Given the description of an element on the screen output the (x, y) to click on. 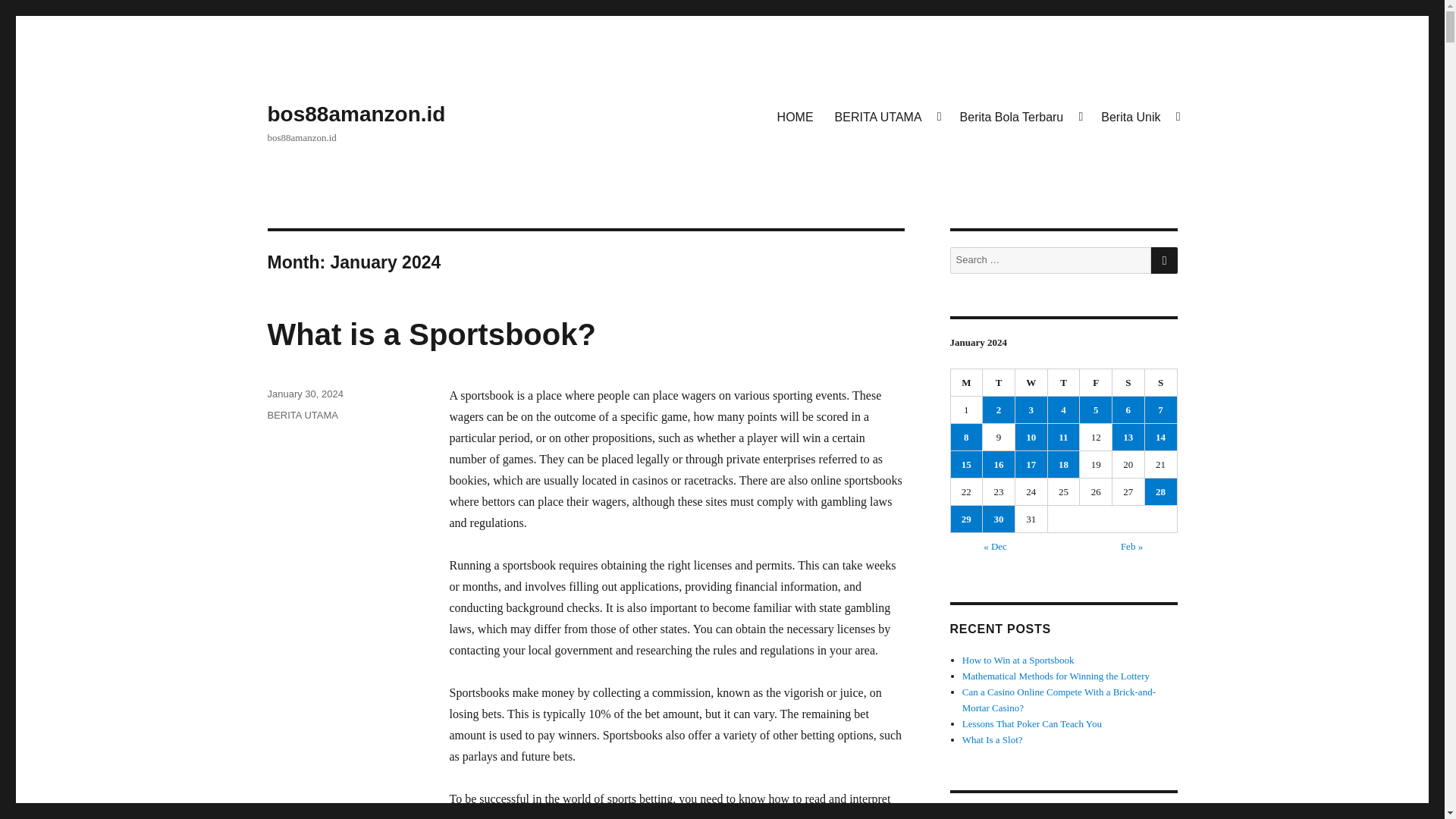
Thursday (1064, 382)
January 30, 2024 (304, 393)
bos88amanzon.id (355, 114)
Wednesday (1031, 382)
Friday (1096, 382)
BERITA UTAMA (886, 116)
What is a Sportsbook? (430, 334)
Saturday (1128, 382)
HOME (795, 116)
Monday (967, 382)
